Given the description of an element on the screen output the (x, y) to click on. 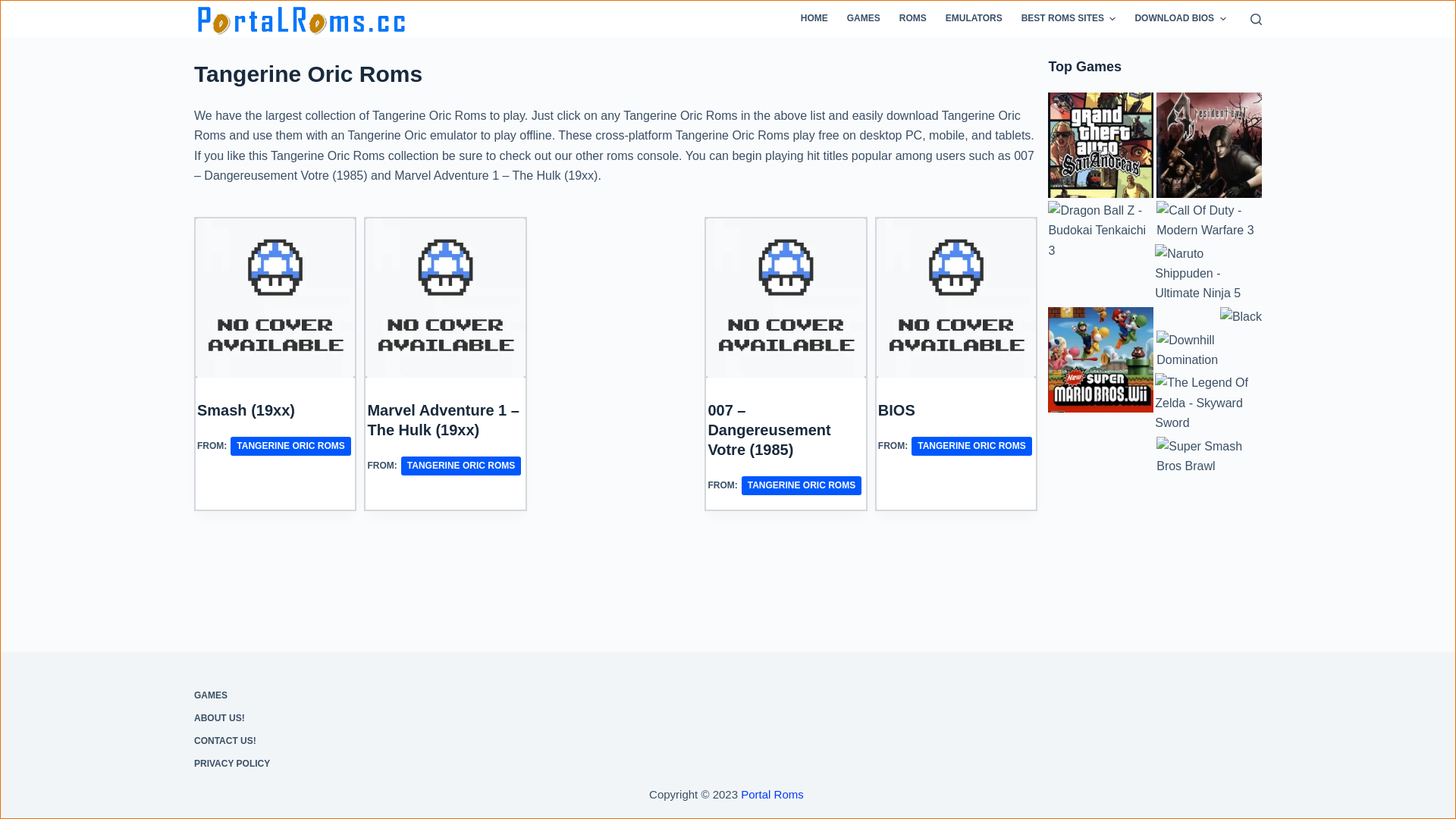
HOME Element type: text (813, 18)
TANGERINE ORIC ROMS Element type: text (460, 465)
GAMES Element type: text (338, 696)
TANGERINE ORIC ROMS Element type: text (801, 485)
Dragon Ball Z - Budokai Tenkaichi 3 Element type: hover (1100, 230)
Portal Roms Element type: text (771, 793)
BEST ROMS SITES Element type: text (1068, 18)
Black Element type: hover (1240, 317)
BIOS Element type: hover (955, 297)
Skip to content Element type: text (15, 7)
Naruto Shippuden - Ultimate Ninja 5 Element type: hover (1207, 274)
PRIVACY POLICY Element type: text (338, 764)
Call Of Duty - Modern Warfare 3 Element type: hover (1208, 220)
The Legend Of Zelda - Skyward Sword Element type: hover (1207, 403)
007 - Dangereusement Votre (1985) Element type: hover (785, 297)
CONTACT US! Element type: text (338, 741)
New Super Mario Bros Wii Element type: hover (1100, 359)
Super Smash Bros Brawl Element type: hover (1208, 456)
BIOS Element type: text (896, 409)
EMULATORS Element type: text (973, 18)
Smash (19xx) Element type: text (245, 409)
Downhill Domination Element type: hover (1208, 350)
ABOUT US! Element type: text (338, 718)
Smash (19xx) Element type: hover (274, 297)
DOWNLOAD BIOS Element type: text (1180, 18)
TANGERINE ORIC ROMS Element type: text (971, 445)
TANGERINE ORIC ROMS Element type: text (290, 445)
Resident Evil 4 - Disc #1 Element type: hover (1208, 144)
GTA San Andreas Element type: hover (1100, 144)
Marvel Adventure 1 - The Hulk (19xx) Element type: hover (444, 297)
GAMES Element type: text (863, 18)
ROMS Element type: text (912, 18)
